Given the description of an element on the screen output the (x, y) to click on. 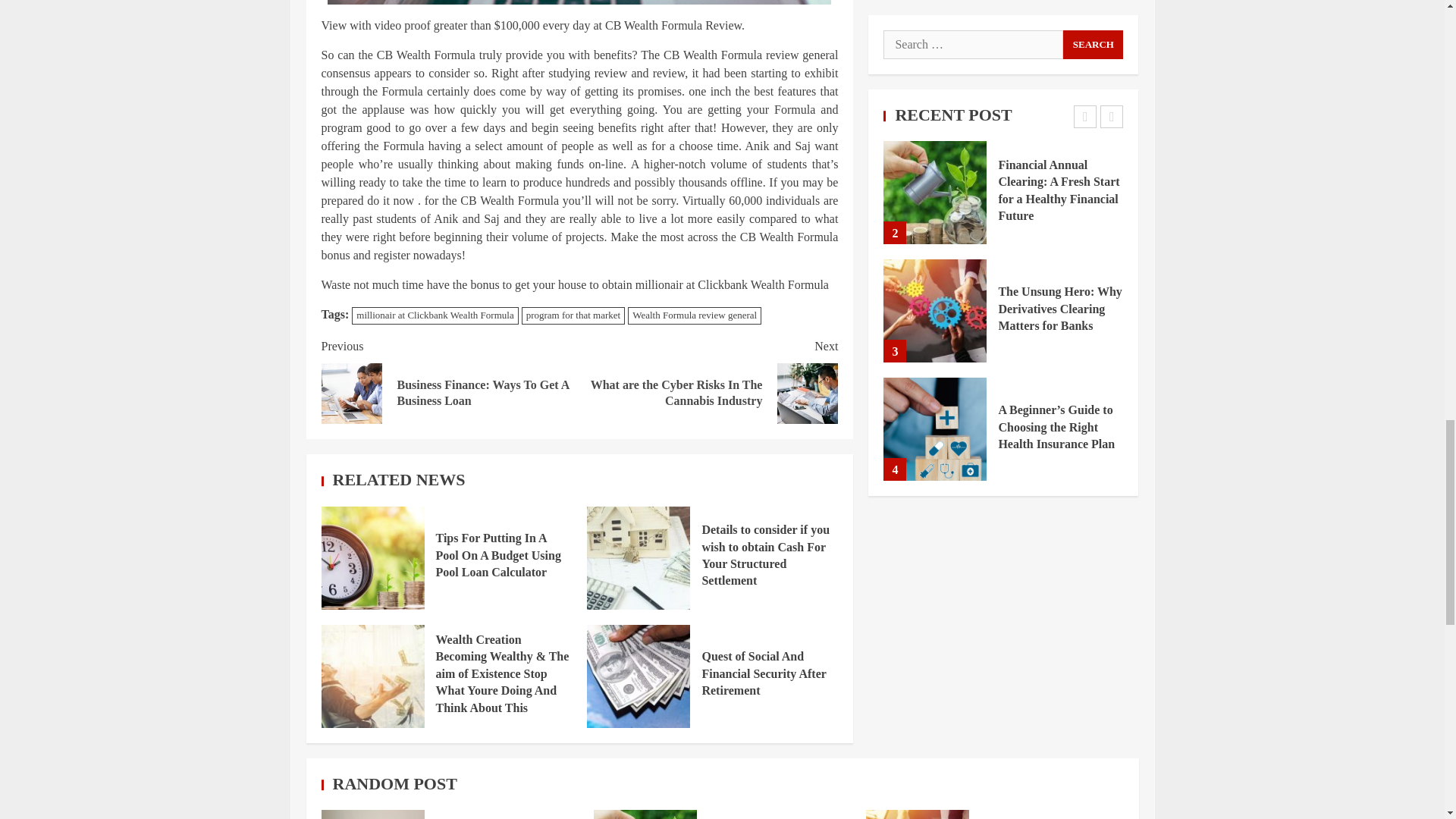
millionair at Clickbank Wealth Formula (435, 315)
Wealth Formula review general (694, 315)
program for that market (573, 315)
Quest of Social And Financial Security After Retirement (763, 673)
Quest of Social And Financial Security After Retirement (638, 676)
